Given the description of an element on the screen output the (x, y) to click on. 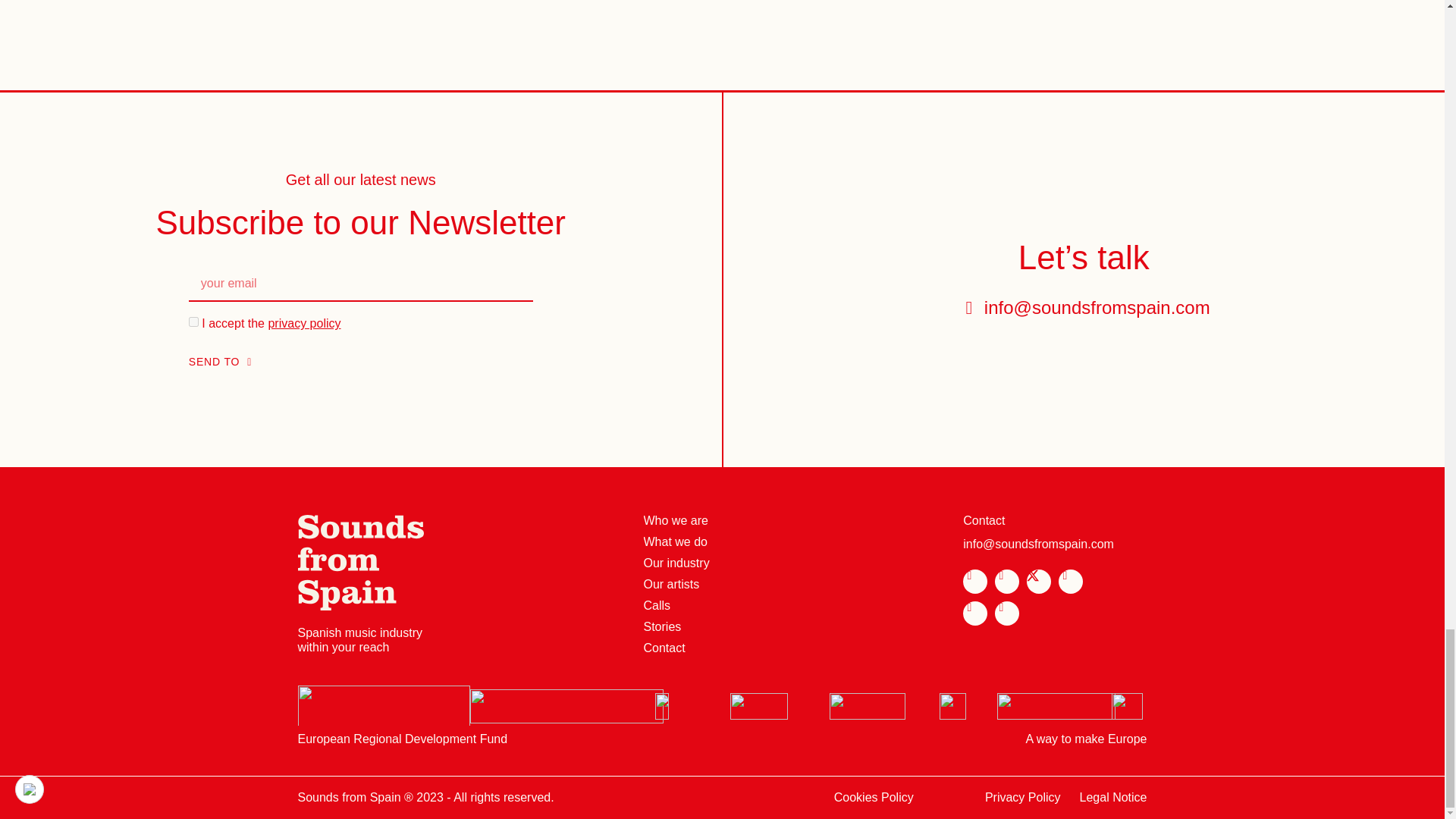
What we do (674, 541)
Who we are (675, 521)
on (193, 321)
SEE MORE (721, 3)
Our artists (670, 584)
Our industry (676, 563)
SEND TO (220, 361)
privacy policy (303, 323)
